Given the description of an element on the screen output the (x, y) to click on. 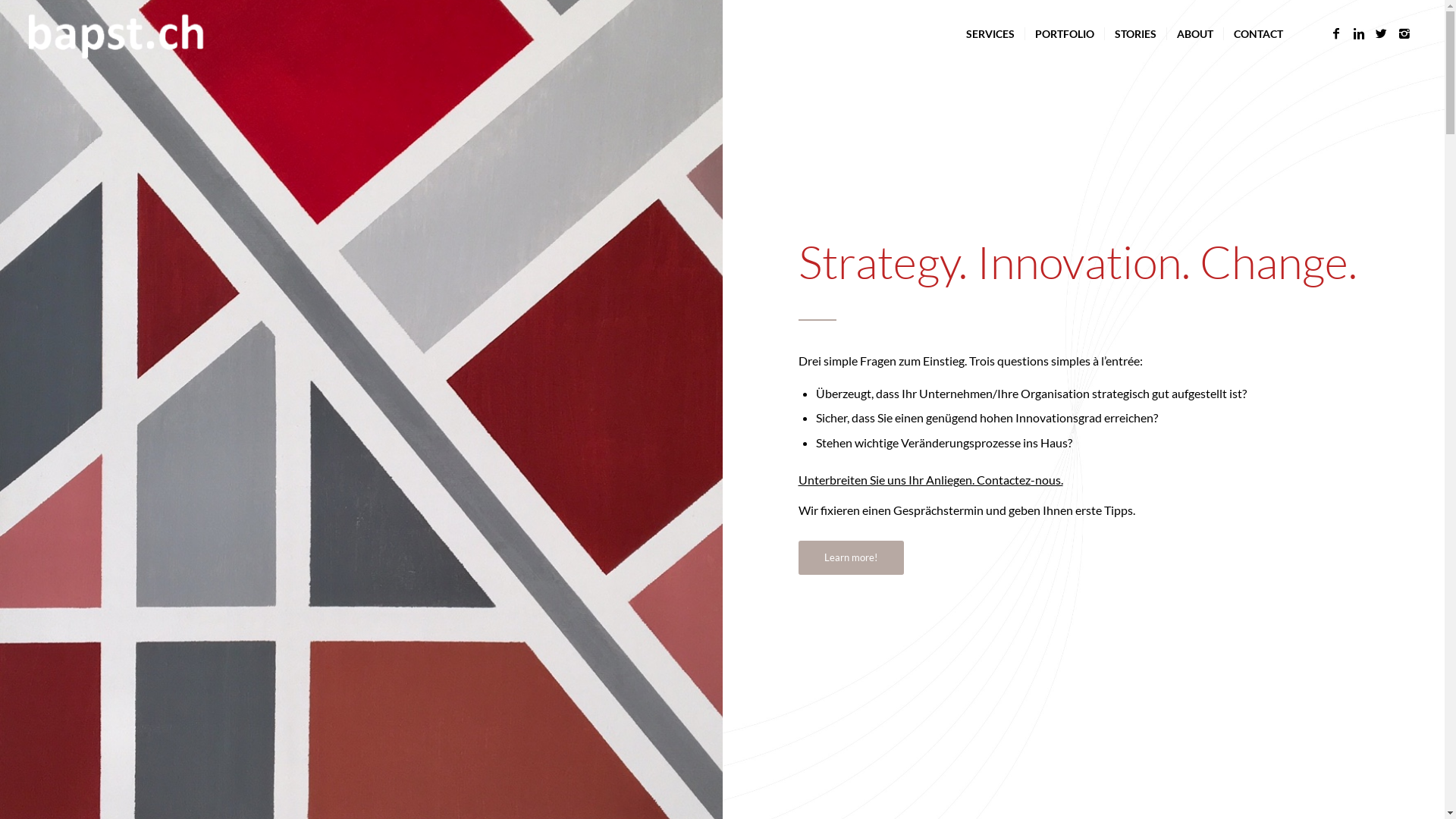
STORIES Element type: text (1135, 34)
Twitter Element type: hover (1381, 32)
Unterbreiten Sie uns Ihr Anliegen. Contactez-nous. Element type: text (929, 479)
Linkedin Element type: hover (1358, 32)
CONTACT Element type: text (1257, 34)
SERVICES Element type: text (990, 34)
ABOUT Element type: text (1194, 34)
Learn more! Element type: text (850, 557)
Facebook Element type: hover (1335, 32)
Instagram Element type: hover (1404, 32)
PORTFOLIO Element type: text (1064, 34)
